Given the description of an element on the screen output the (x, y) to click on. 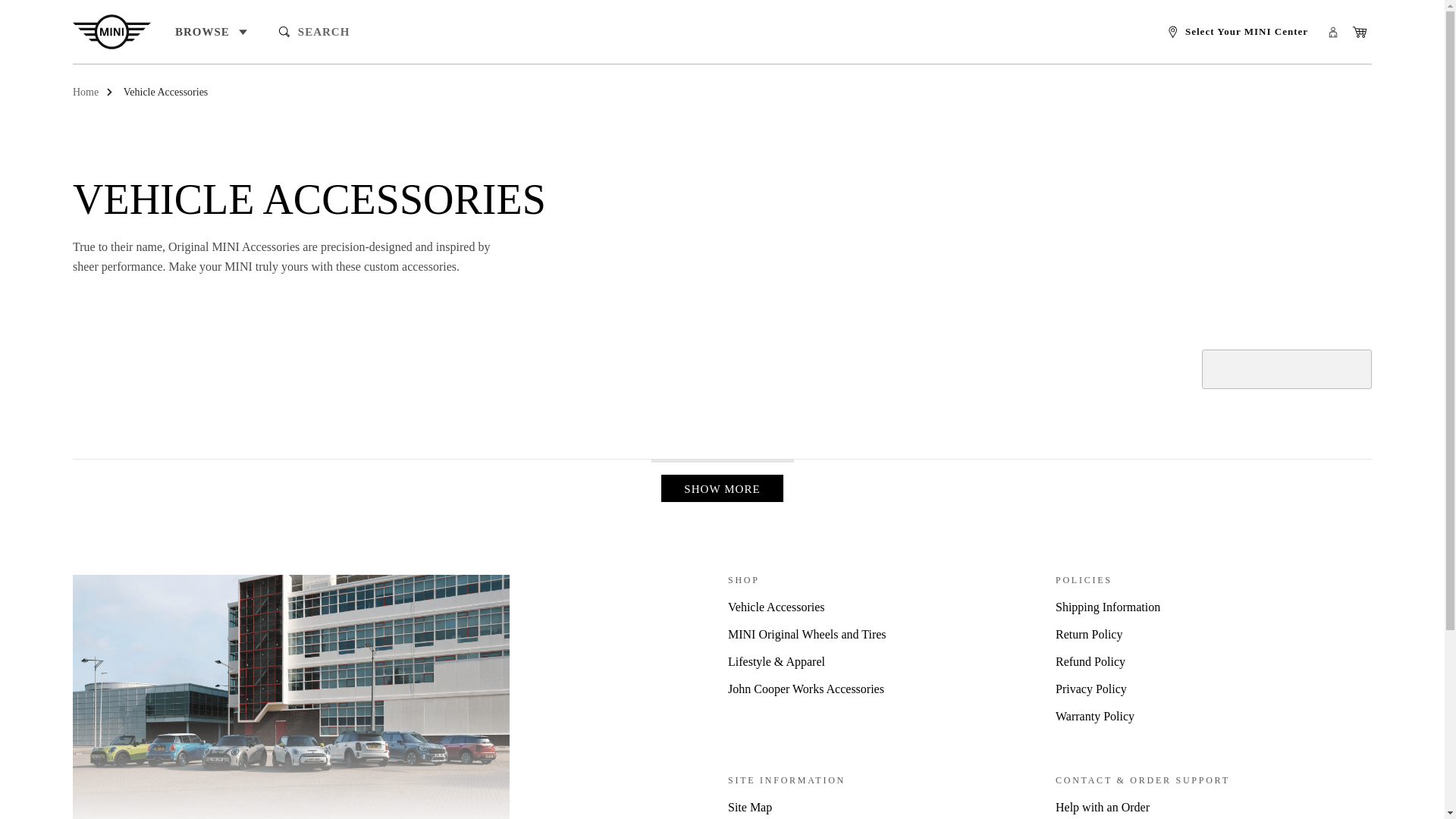
BROWSE (210, 31)
Select Your MINI Center (1238, 31)
